Given the description of an element on the screen output the (x, y) to click on. 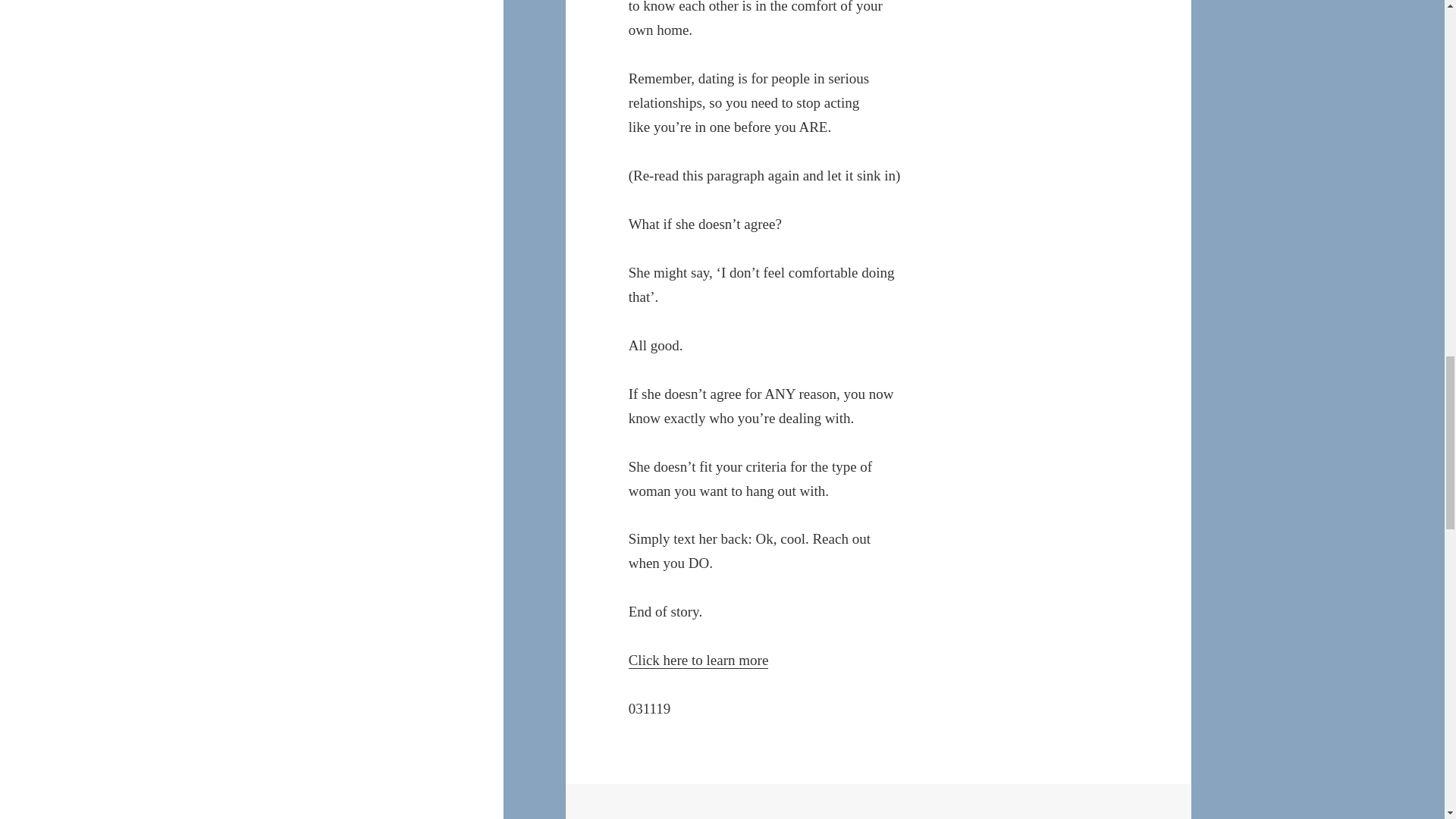
March 11, 2019 (684, 818)
Uncategorized (840, 818)
Click here to learn more (698, 660)
user (764, 818)
